Given the description of an element on the screen output the (x, y) to click on. 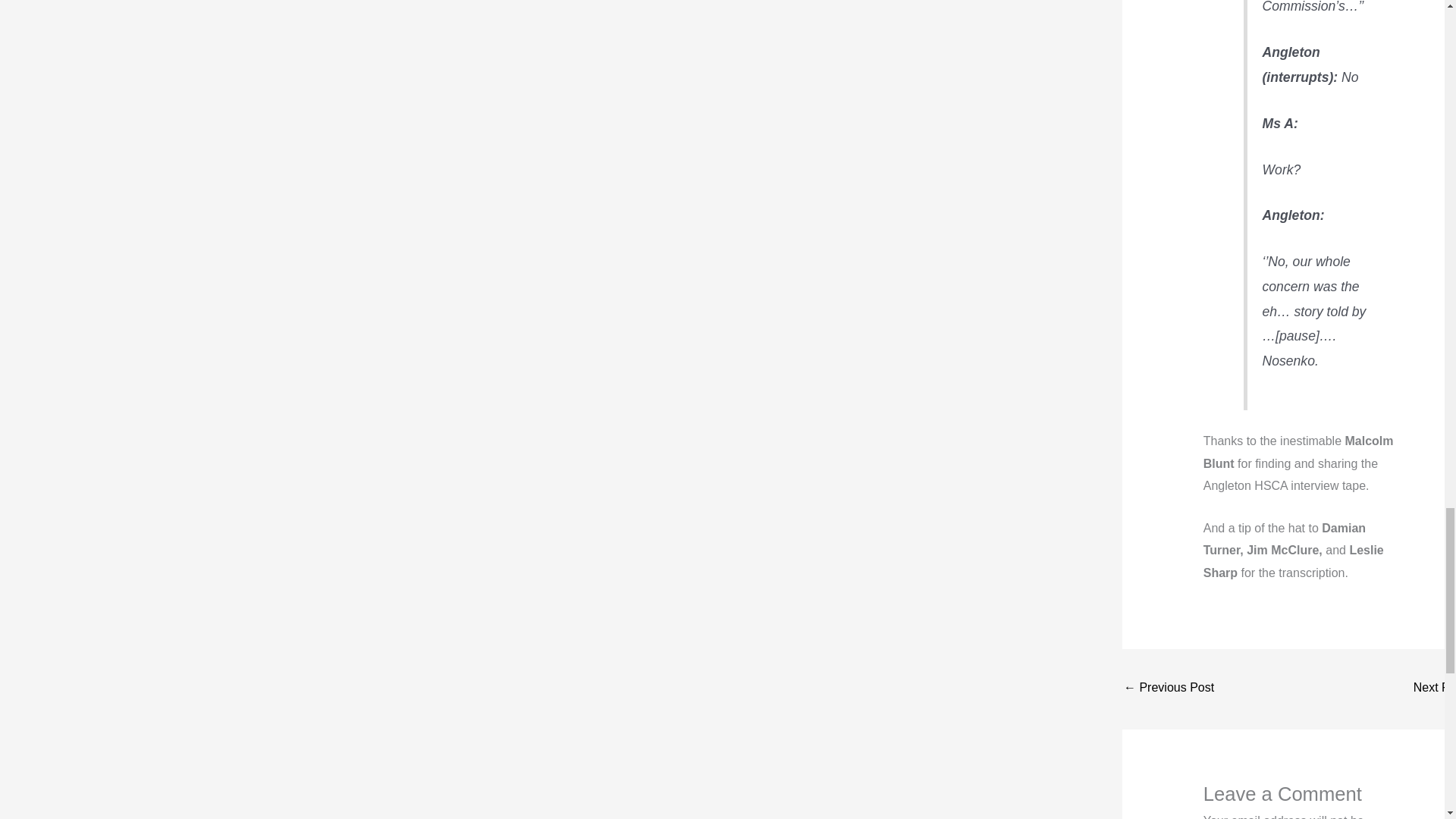
Next Post (1434, 688)
Comment of the week (1434, 688)
